Given the description of an element on the screen output the (x, y) to click on. 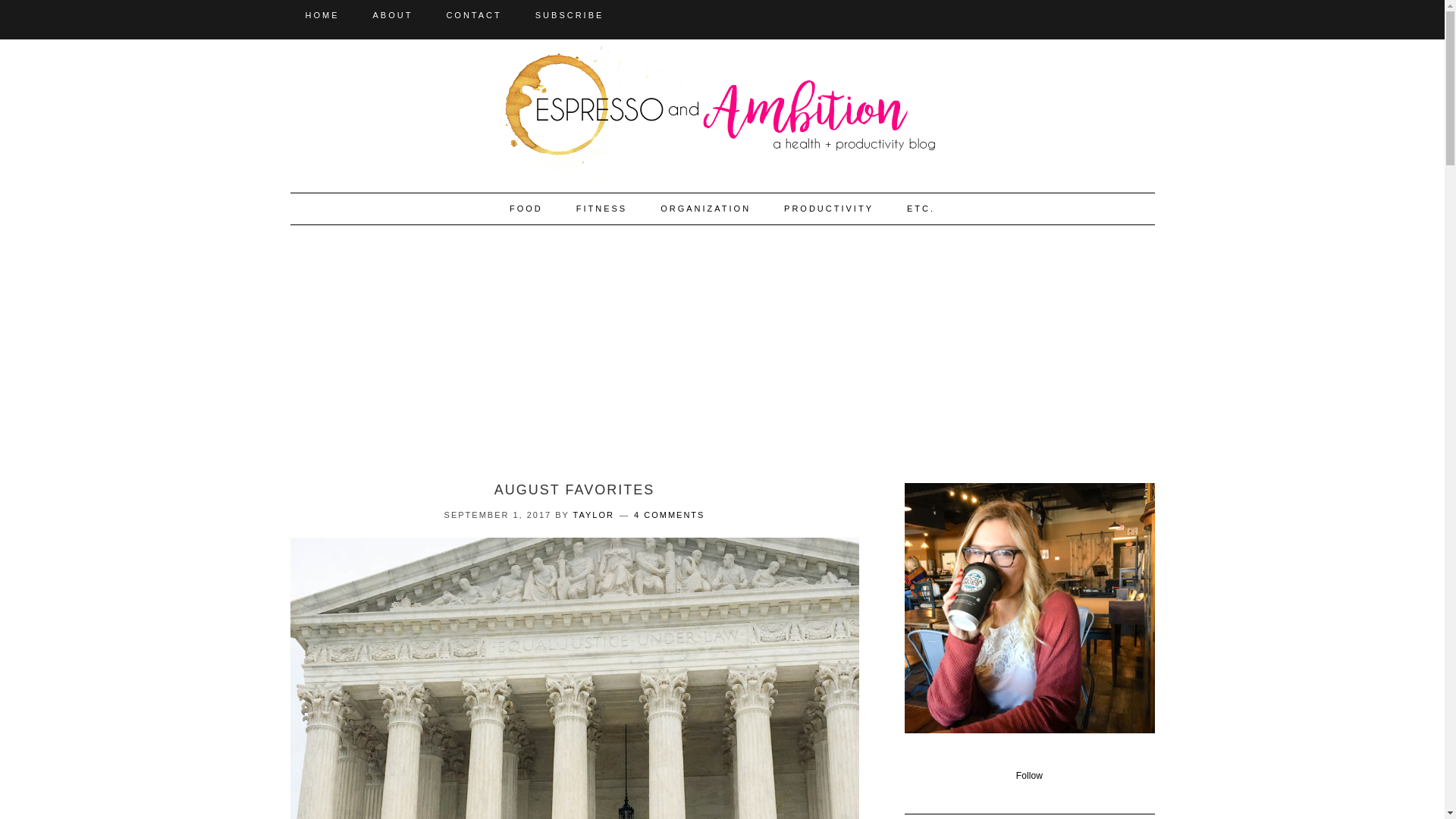
SUBSCRIBE (569, 15)
ORGANIZATION (705, 208)
Espresso and Ambition (721, 109)
ETC. (920, 208)
FITNESS (601, 208)
HOME (321, 15)
ABOUT (393, 15)
PRODUCTIVITY (828, 208)
Follow (1029, 775)
FOOD (526, 208)
CONTACT (473, 15)
4 COMMENTS (668, 514)
TAYLOR (593, 514)
